Given the description of an element on the screen output the (x, y) to click on. 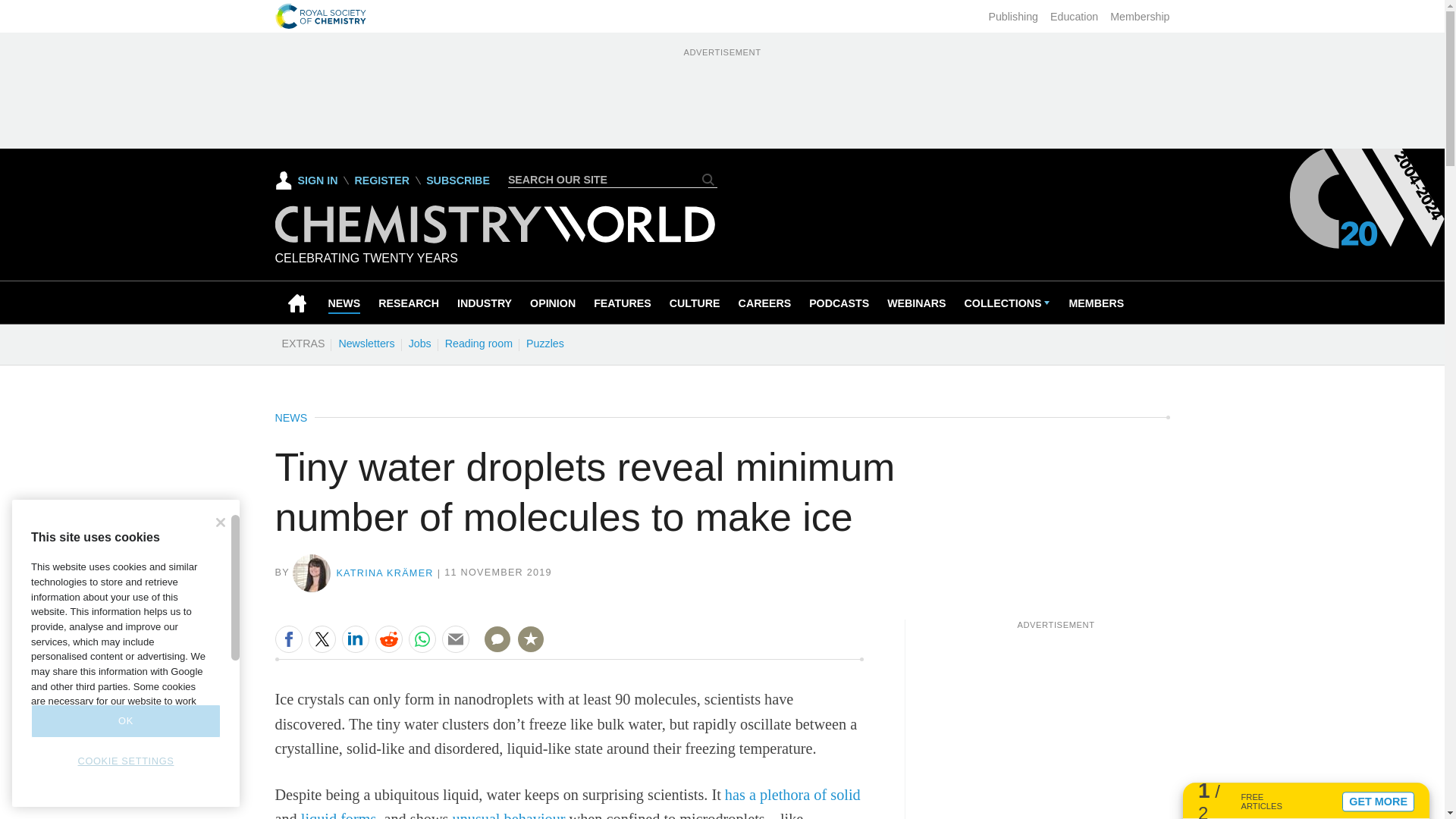
Share this on WhatsApp (421, 638)
Reading room (478, 343)
REGISTER (381, 180)
SUBSCRIBE (457, 180)
3rd party ad content (721, 94)
Newsletters (366, 343)
Jobs (419, 343)
Chemistry World (494, 238)
Publishing (1013, 16)
SEARCH (708, 179)
Membership (1139, 16)
Education (1073, 16)
3rd party ad content (1055, 724)
NO COMMENTS (492, 648)
Share this by email (454, 638)
